Given the description of an element on the screen output the (x, y) to click on. 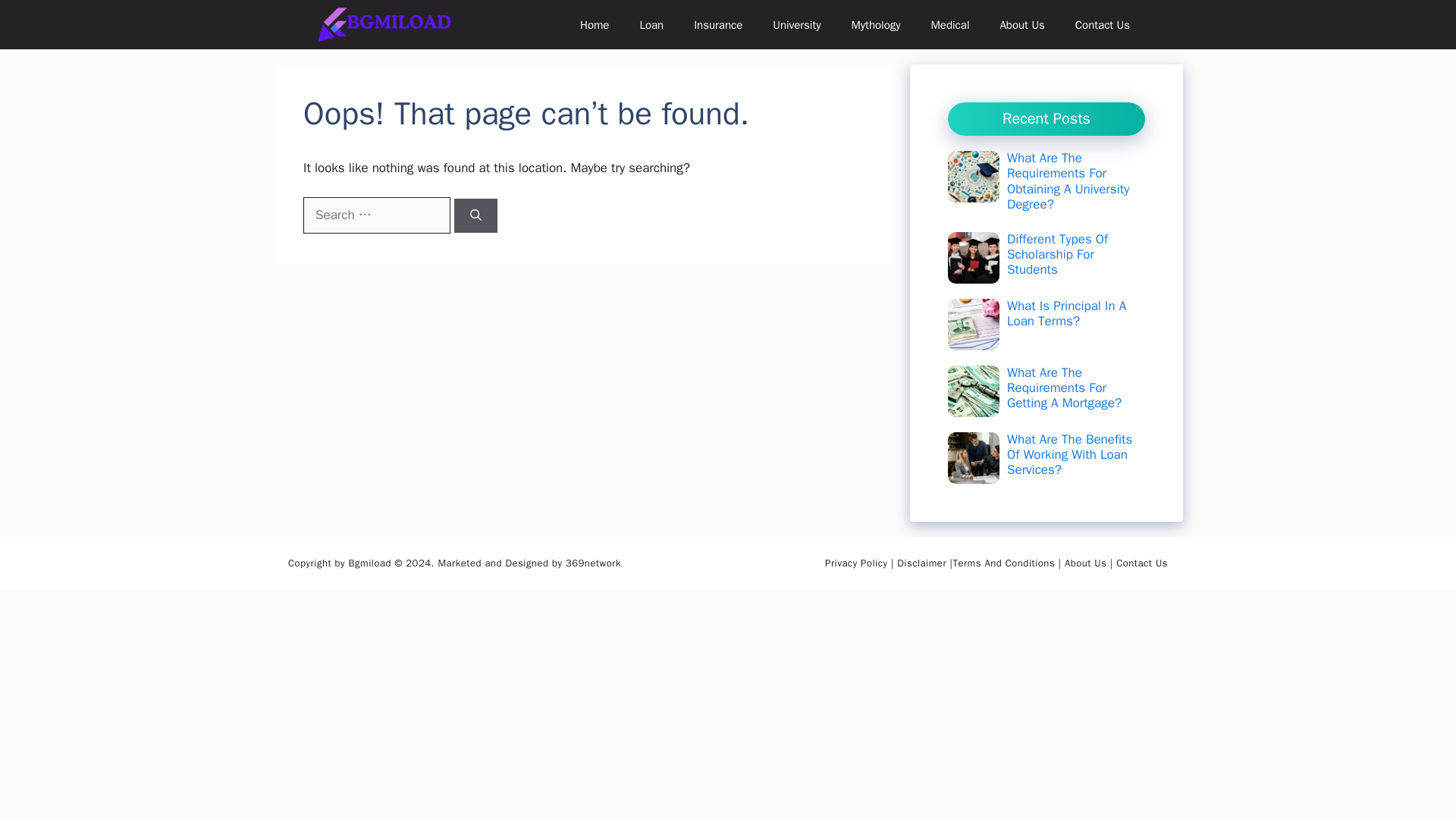
Medical (950, 23)
What Are The Requirements For Obtaining A University Degree? (1068, 180)
Disclaimer (922, 562)
Insurance (717, 23)
Loan (651, 23)
What Are The Benefits Of Working With Loan Services? (1069, 454)
What Are The Requirements For Getting A Mortgage? (1064, 387)
Mythology (875, 23)
Search for: (375, 215)
What Is Principal In A Loan Terms? (1066, 313)
